Given the description of an element on the screen output the (x, y) to click on. 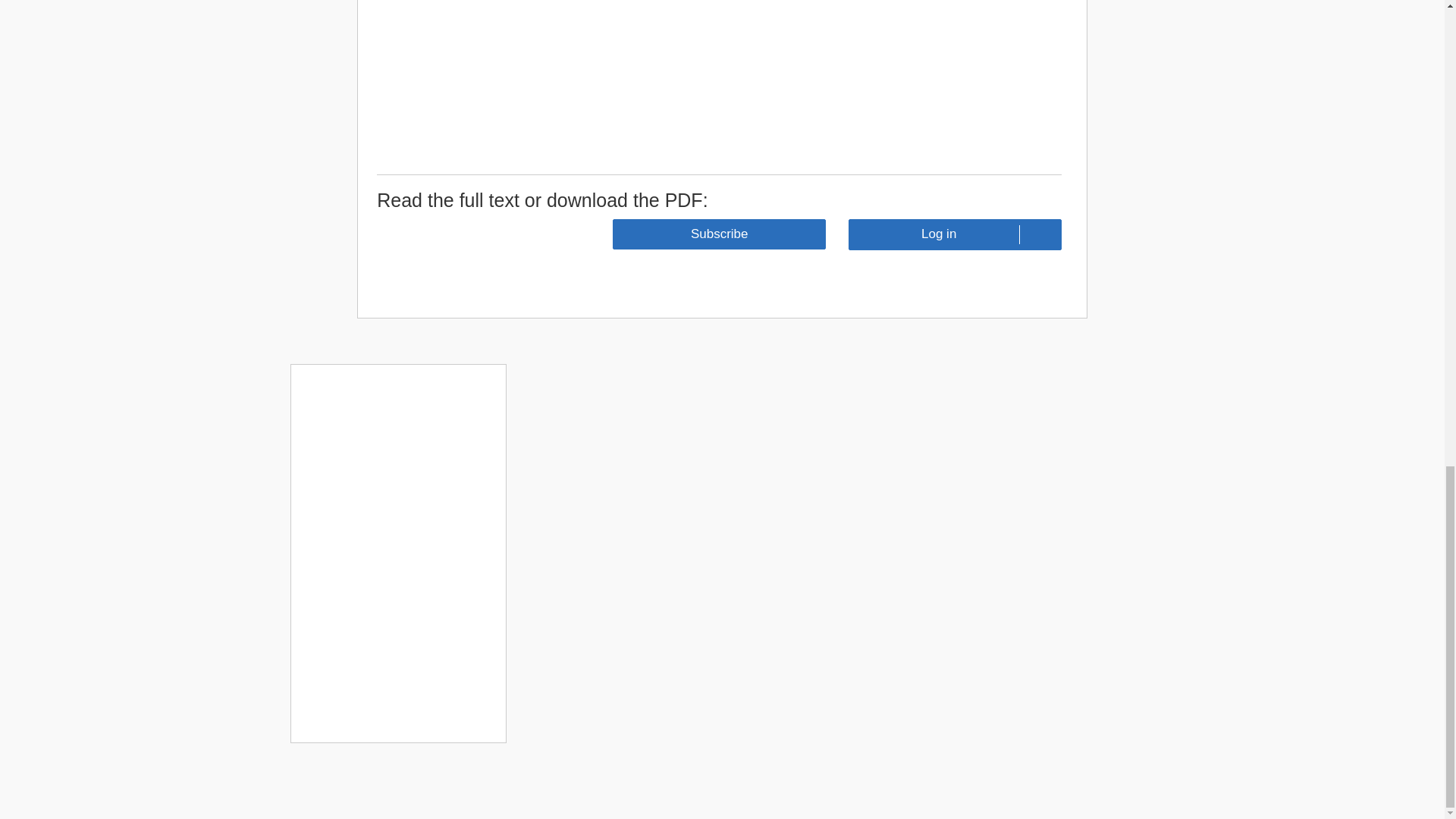
careers widget (397, 552)
3rd party ad content (947, 72)
